Given the description of an element on the screen output the (x, y) to click on. 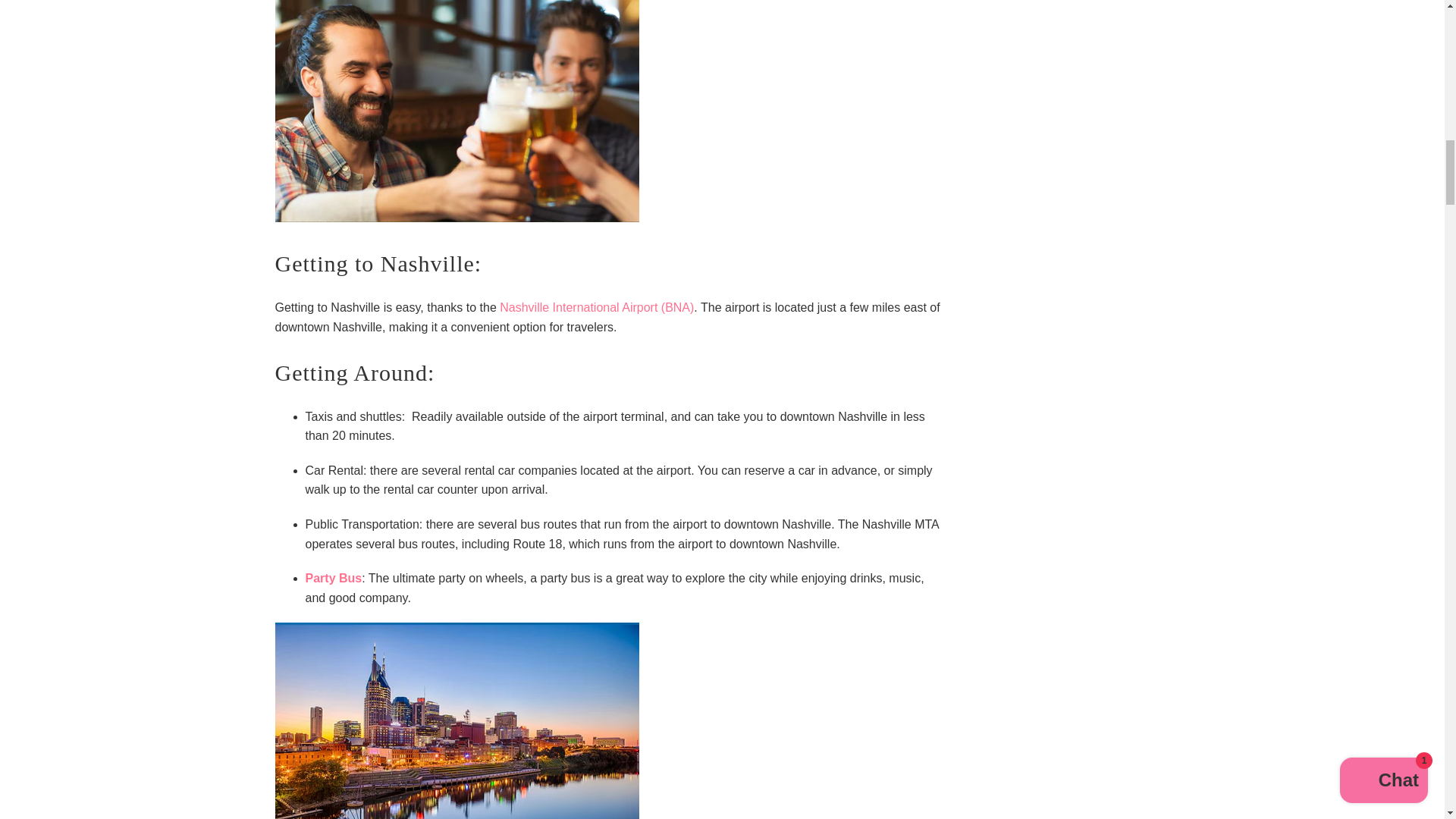
nashville bachelor party ideas (457, 217)
nashville bachelor party (332, 577)
nashville bachelor party (596, 307)
